Given the description of an element on the screen output the (x, y) to click on. 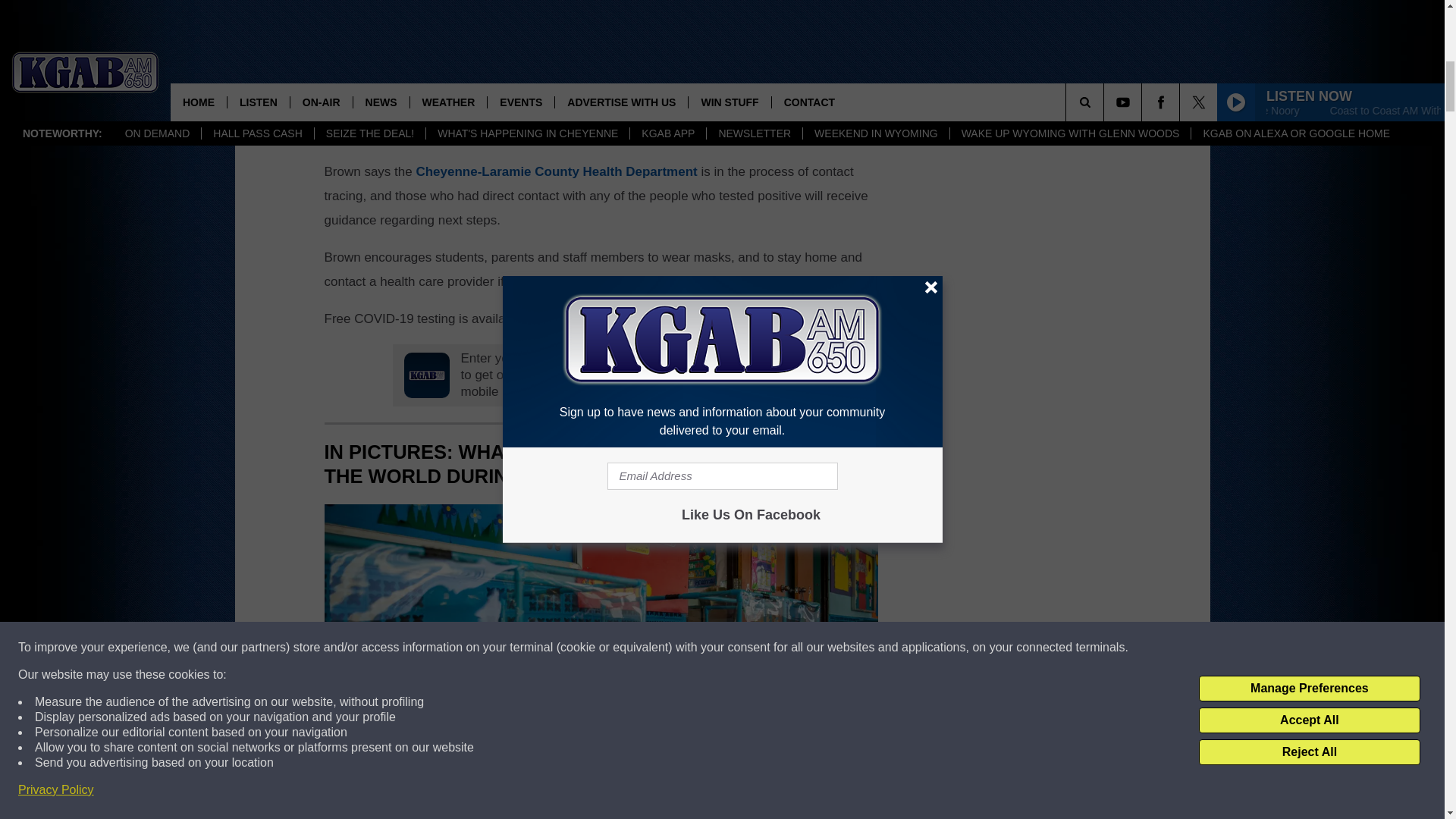
Email Address (600, 112)
